Given the description of an element on the screen output the (x, y) to click on. 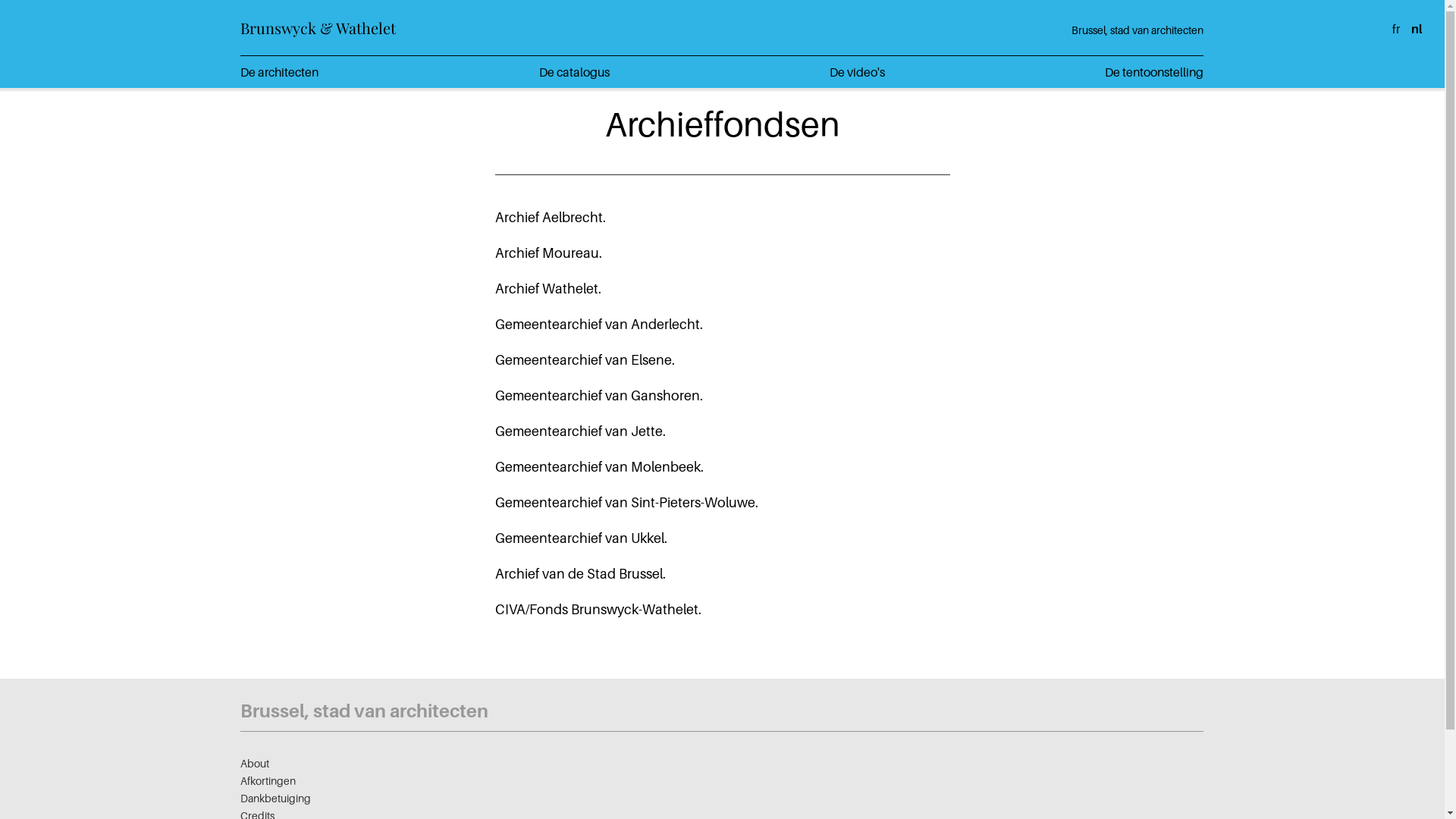
Brussel, stad van architecten Element type: text (364, 710)
De video's Element type: text (856, 71)
De tentoonstelling Element type: text (1153, 71)
De architecten Element type: text (279, 71)
nl Element type: text (1416, 28)
Dankbetuiging Element type: text (275, 797)
Brunswyck & Wathelet Element type: text (317, 27)
Afkortingen Element type: text (267, 780)
De catalogus Element type: text (574, 71)
fr Element type: text (1395, 28)
About Element type: text (254, 762)
Brussel, stad van architecten Element type: text (1137, 29)
